Given the description of an element on the screen output the (x, y) to click on. 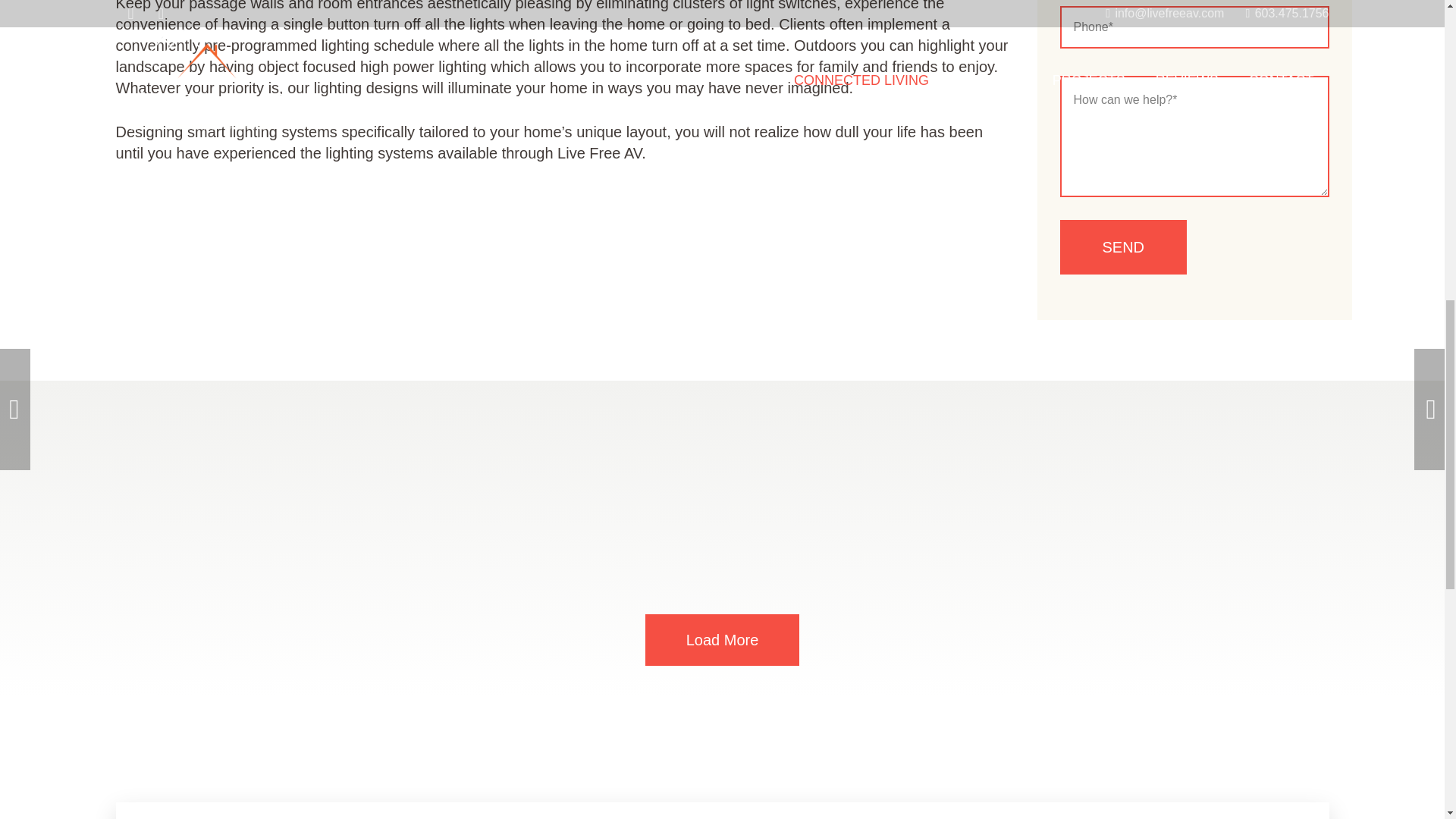
SEND (1123, 247)
Back to top (1413, 26)
Load More (722, 639)
SEND (1123, 247)
